Given the description of an element on the screen output the (x, y) to click on. 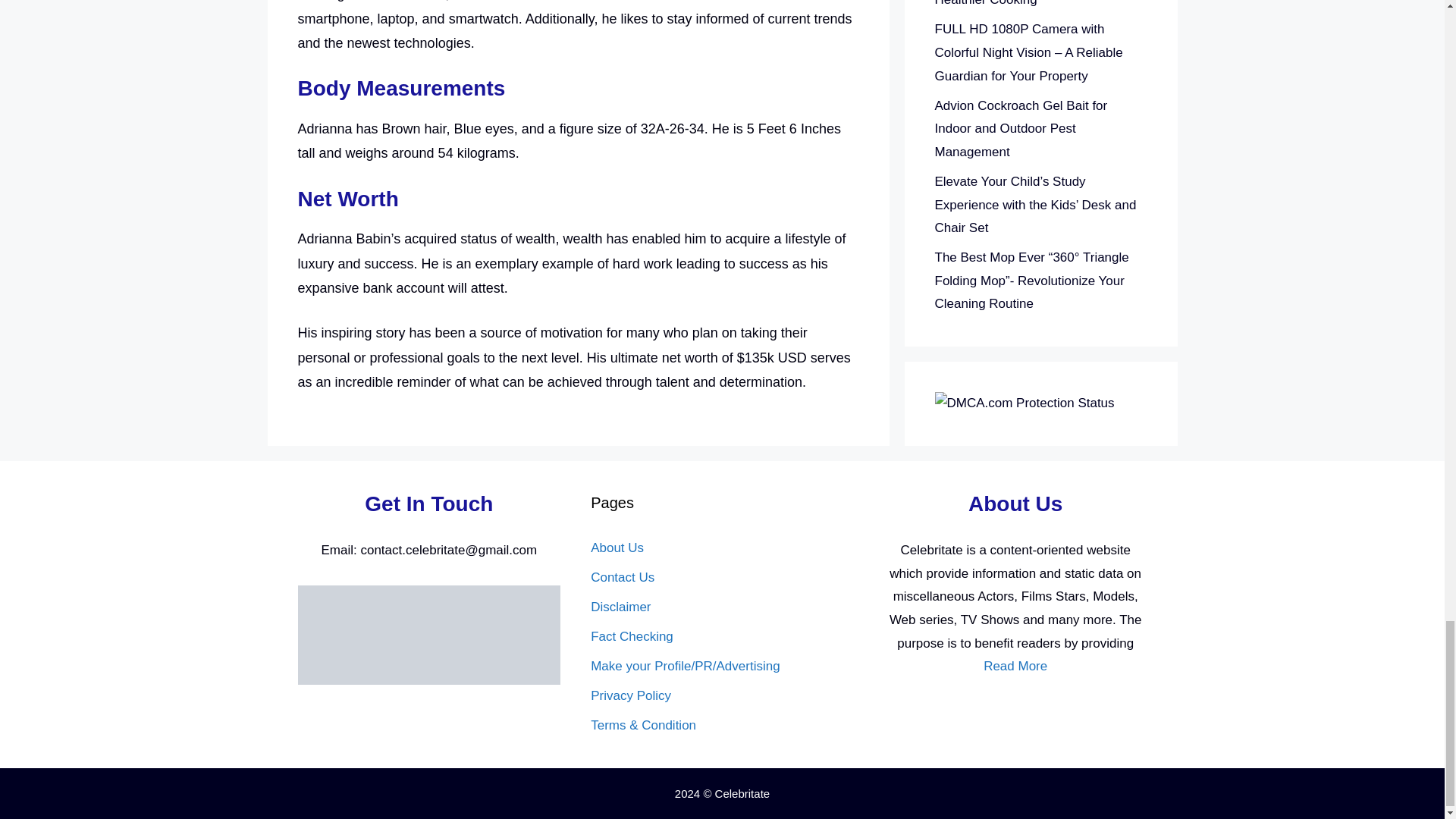
Privacy Policy (631, 695)
Read More (1015, 666)
Disclaimer (620, 606)
Fact Checking (631, 636)
Contact Us (622, 577)
About Us (617, 547)
